Given the description of an element on the screen output the (x, y) to click on. 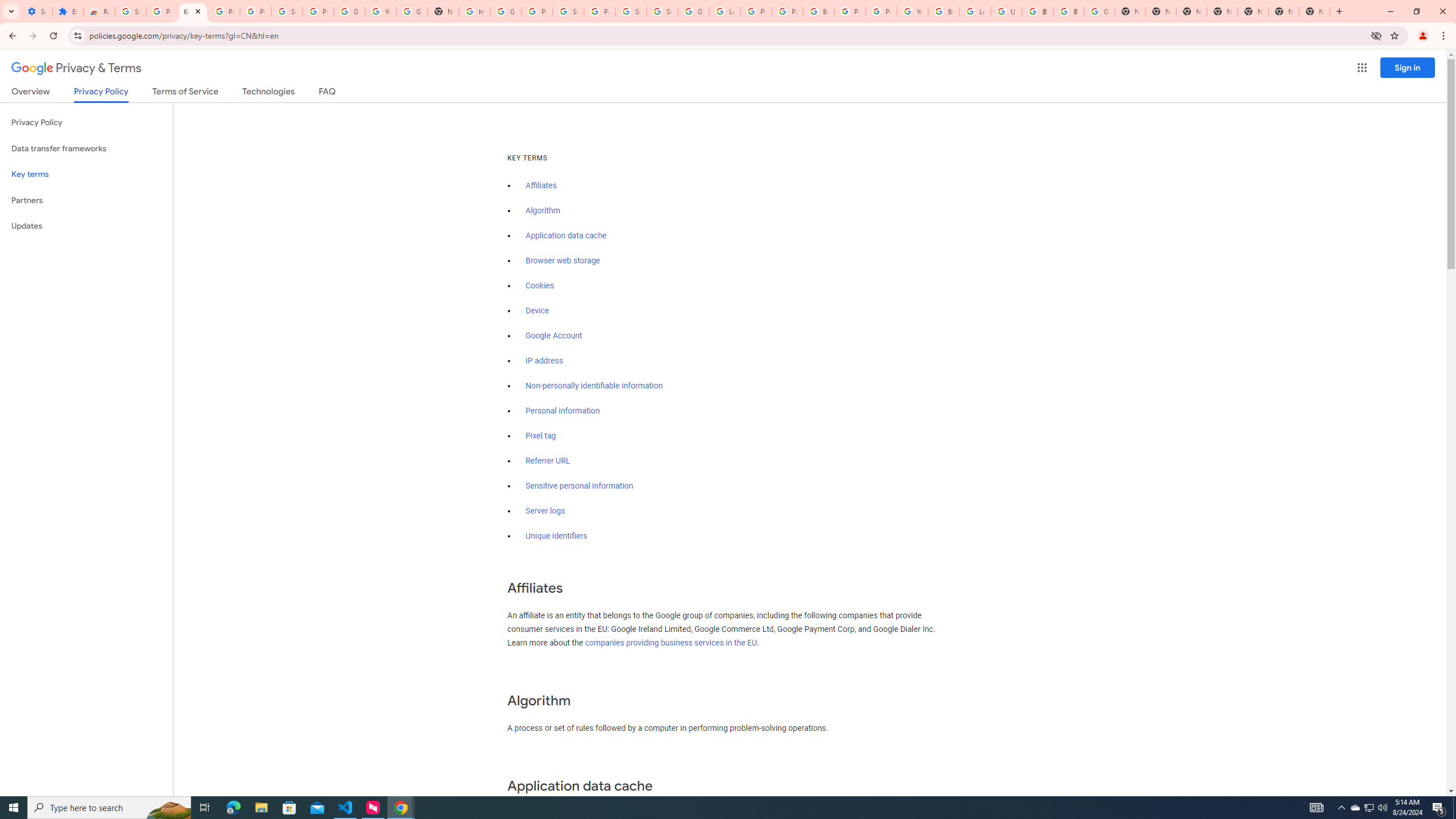
Reviews: Helix Fruit Jump Arcade Game (98, 11)
Browser web storage (562, 260)
Personal information (562, 411)
Privacy Help Center - Policies Help (756, 11)
